Given the description of an element on the screen output the (x, y) to click on. 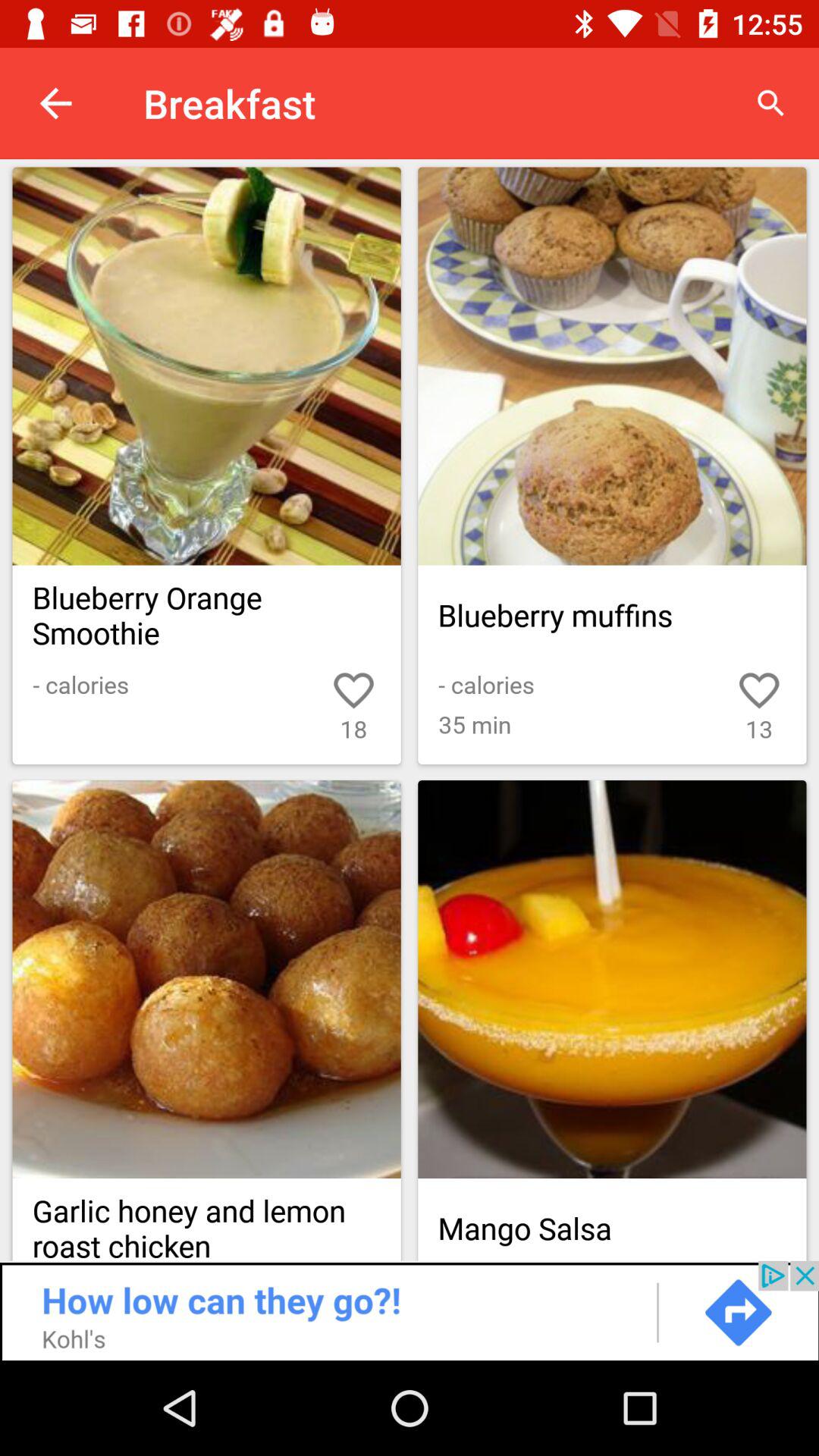
advertisement page (409, 1310)
